Given the description of an element on the screen output the (x, y) to click on. 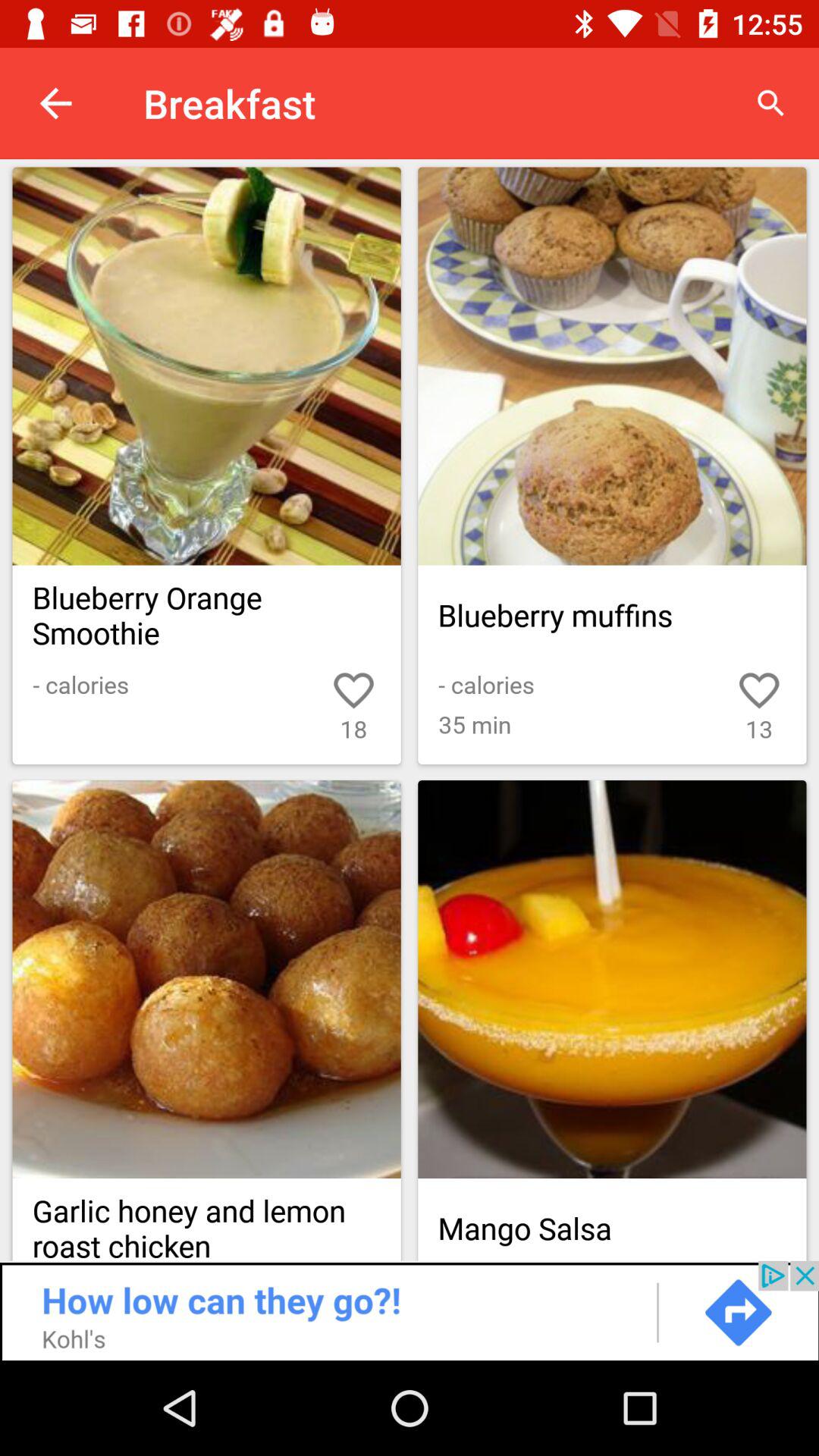
advertisement page (409, 1310)
